Given the description of an element on the screen output the (x, y) to click on. 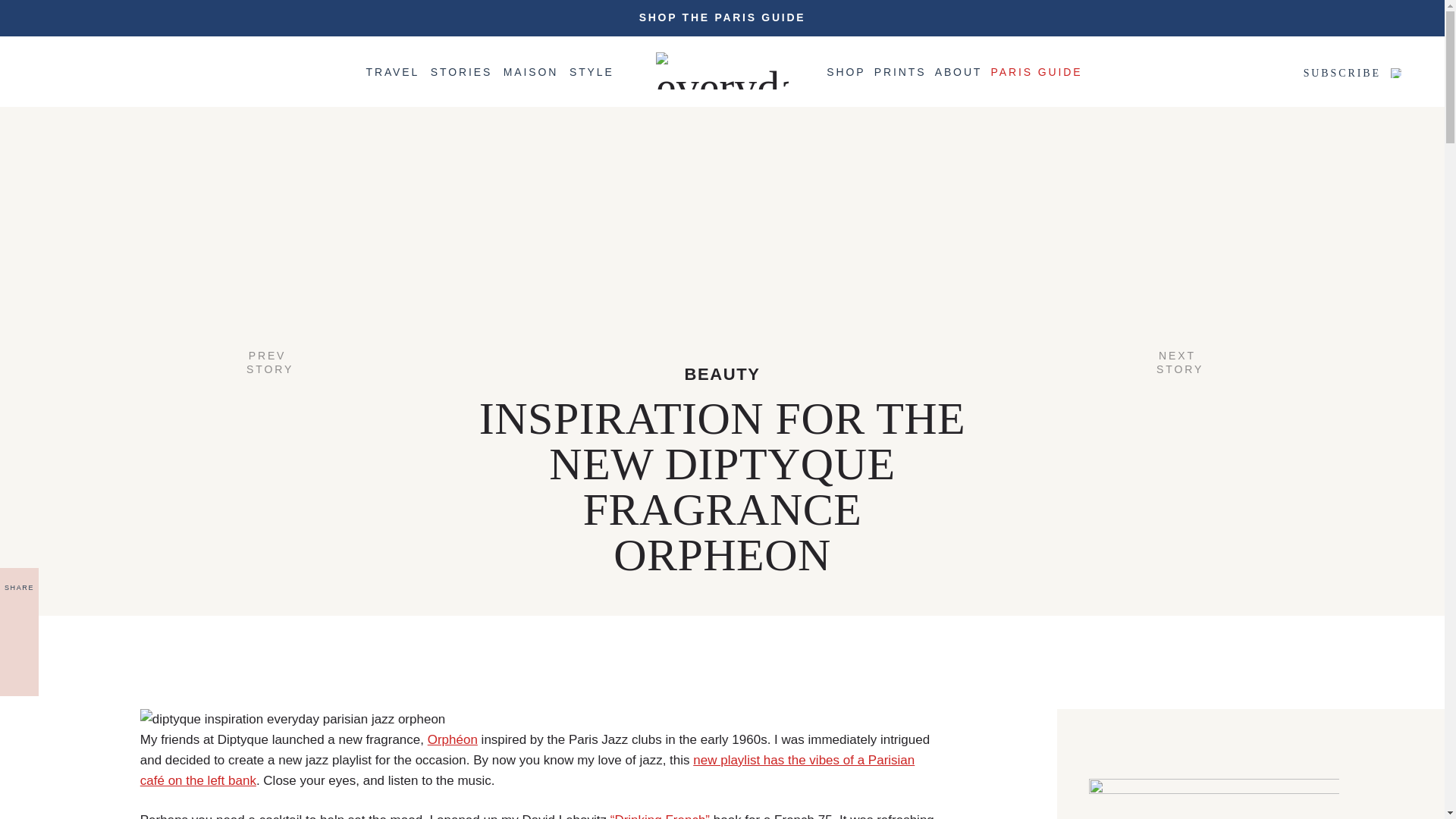
TRAVEL (489, 79)
SHOP THE PARIS GUIDE (392, 79)
